Given the description of an element on the screen output the (x, y) to click on. 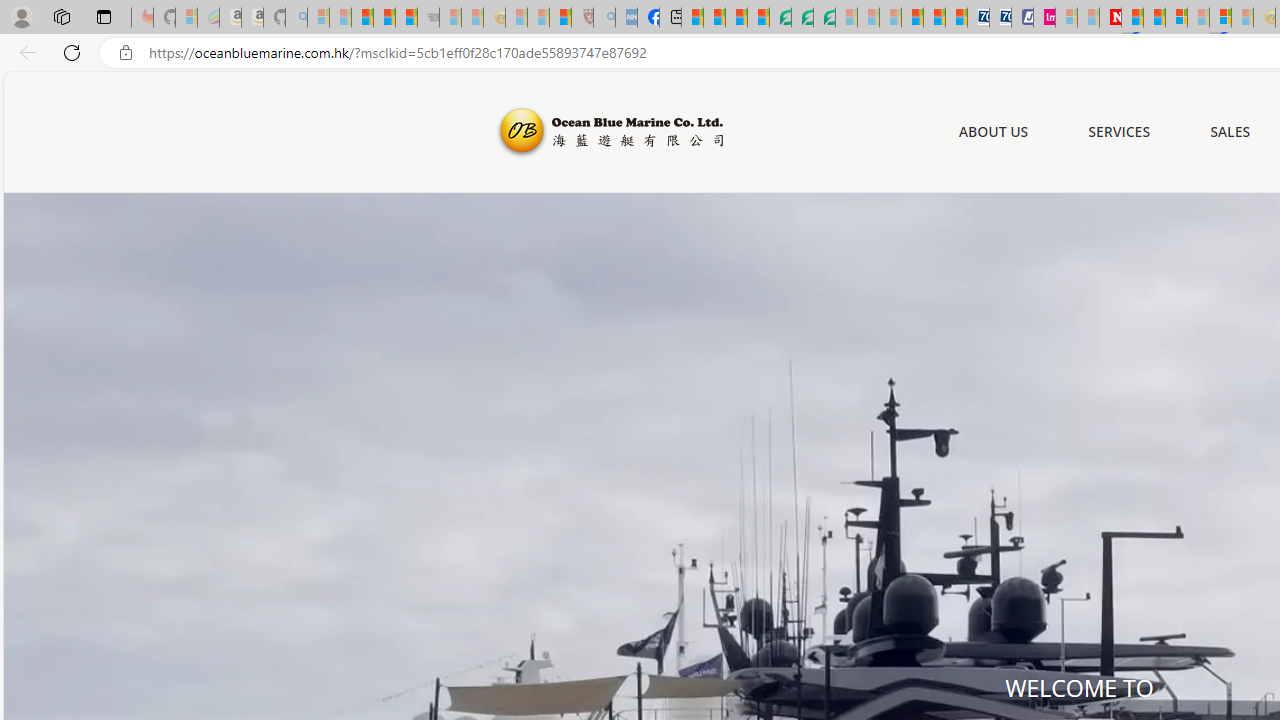
SERVICES (1119, 131)
LendingTree - Compare Lenders (780, 17)
